Given the description of an element on the screen output the (x, y) to click on. 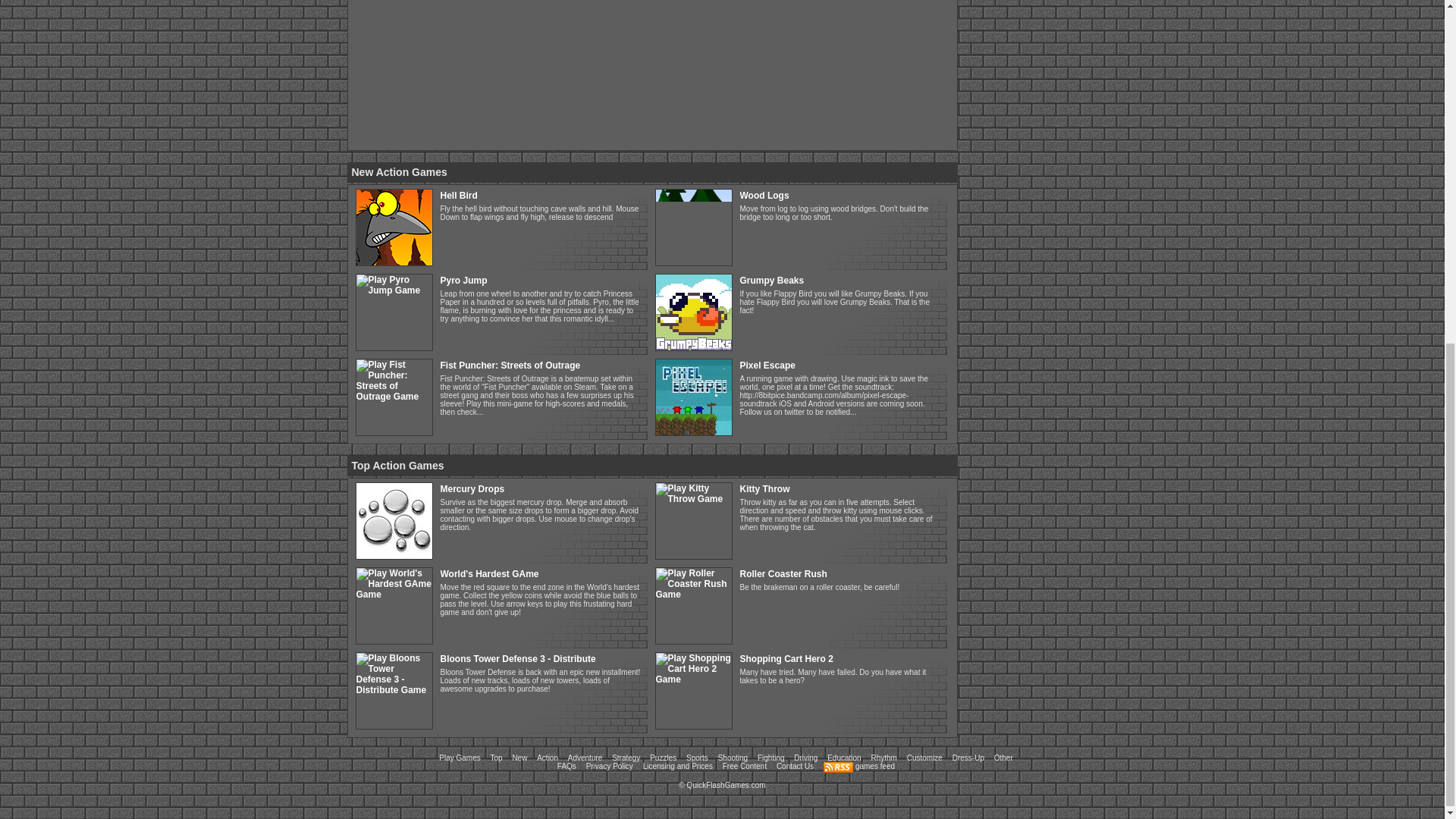
Play Games (459, 757)
Top (495, 757)
Action (547, 757)
Adventure (584, 757)
New (519, 757)
Play Games (459, 757)
Strategy (625, 757)
Puzzles (663, 757)
